Given the description of an element on the screen output the (x, y) to click on. 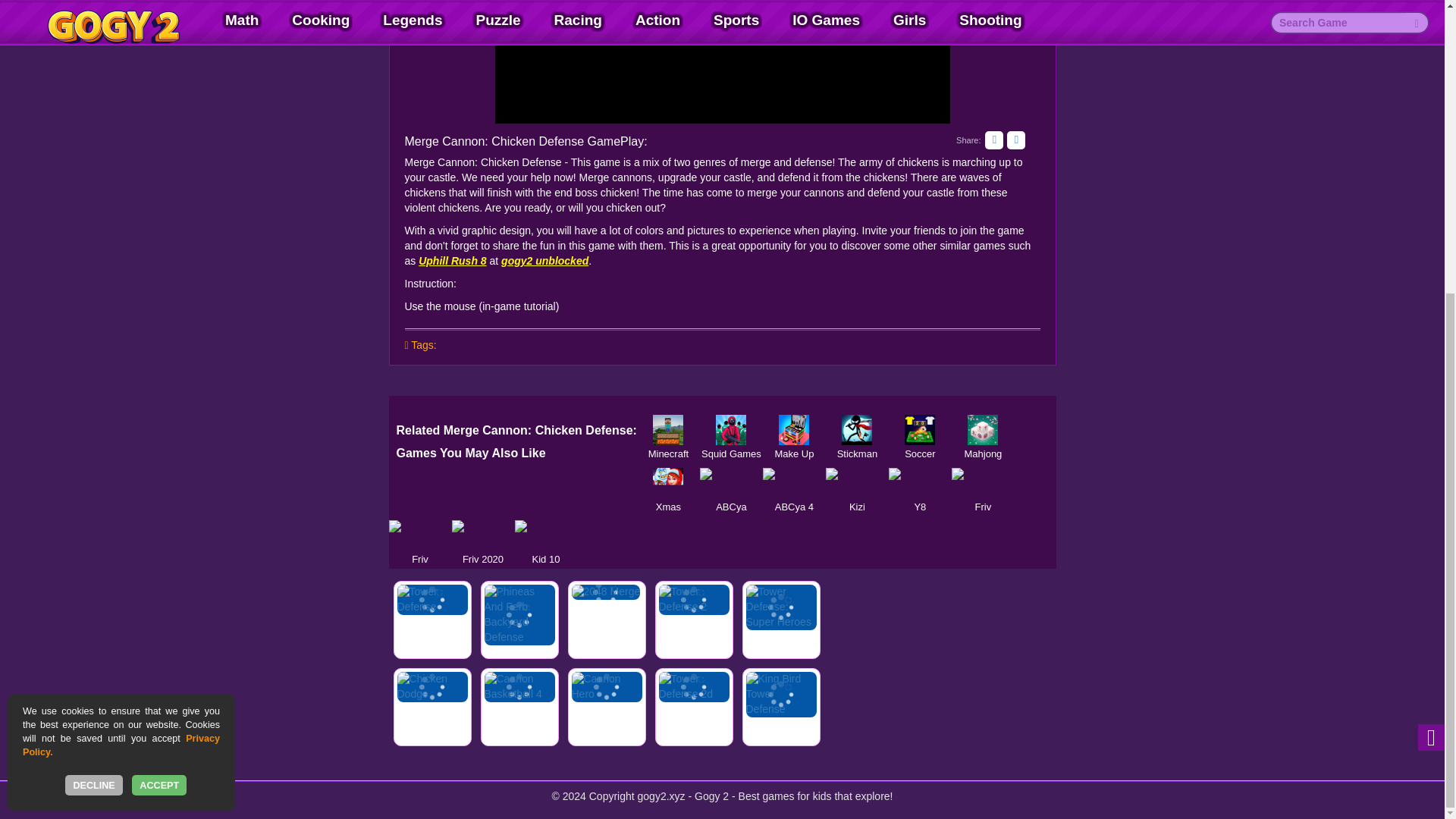
Soccer (920, 429)
gogy2 unblocked (544, 260)
Friv (983, 482)
Xmas (668, 482)
Squid Games (731, 429)
Soccer (920, 429)
Friv 2020 (483, 535)
Mahjong (983, 429)
Mahjong (983, 429)
ABCya (731, 482)
